Given the description of an element on the screen output the (x, y) to click on. 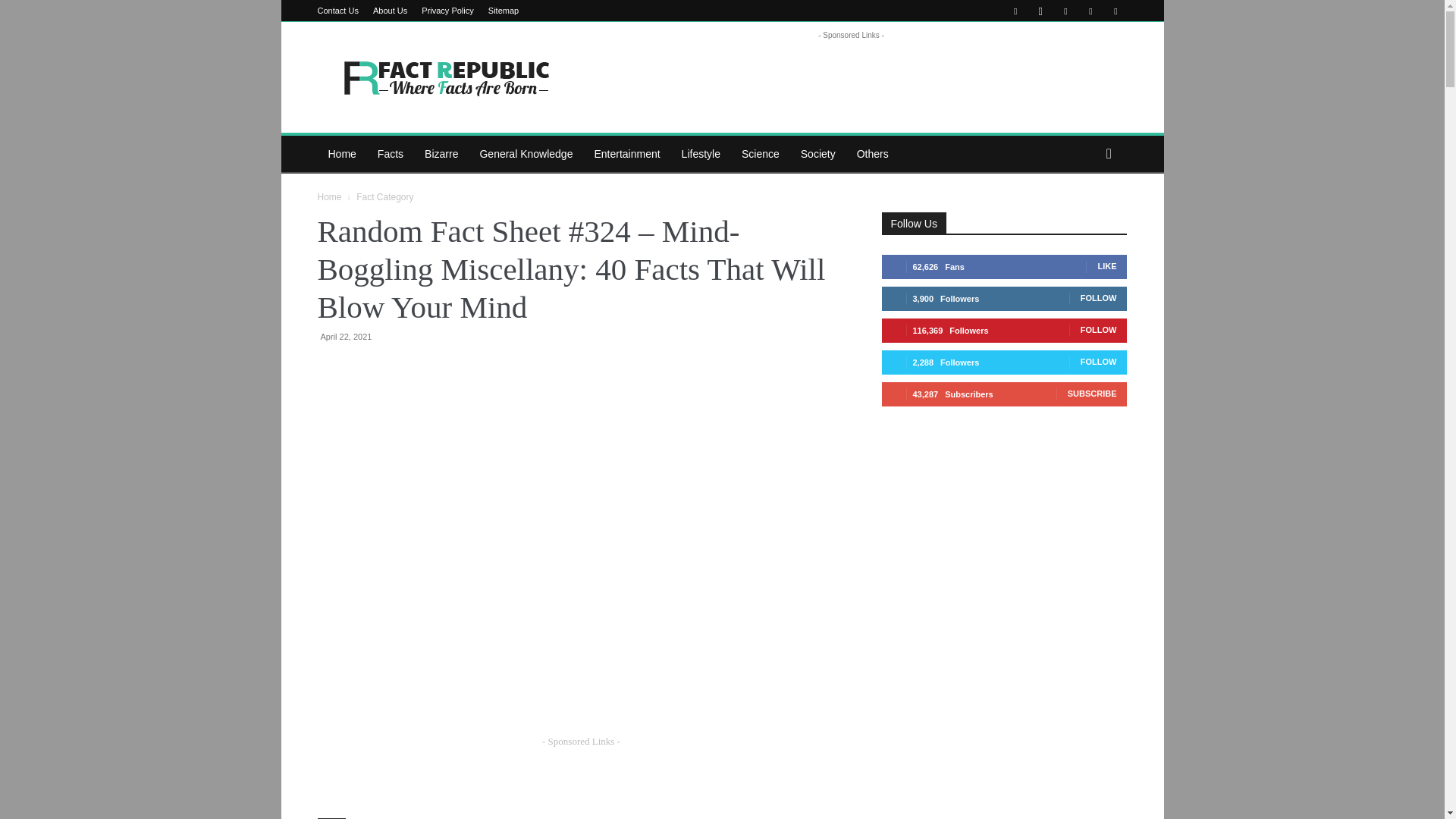
Instagram (1040, 10)
Where Facts Are Born (445, 77)
Facebook (1015, 10)
Twitter (1090, 10)
Youtube (1114, 10)
Pinterest (1065, 10)
